Given the description of an element on the screen output the (x, y) to click on. 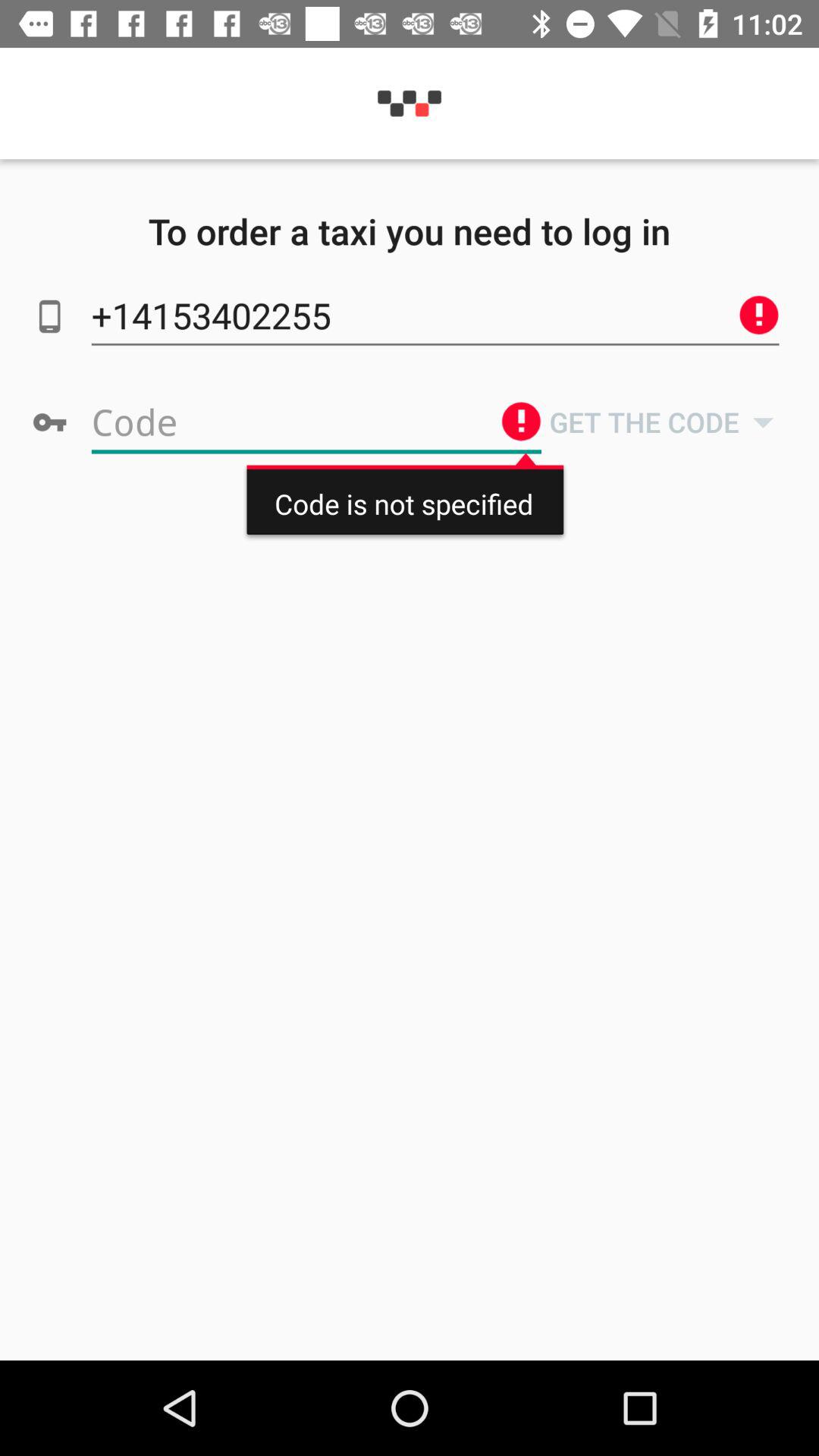
enter the code (316, 421)
